Given the description of an element on the screen output the (x, y) to click on. 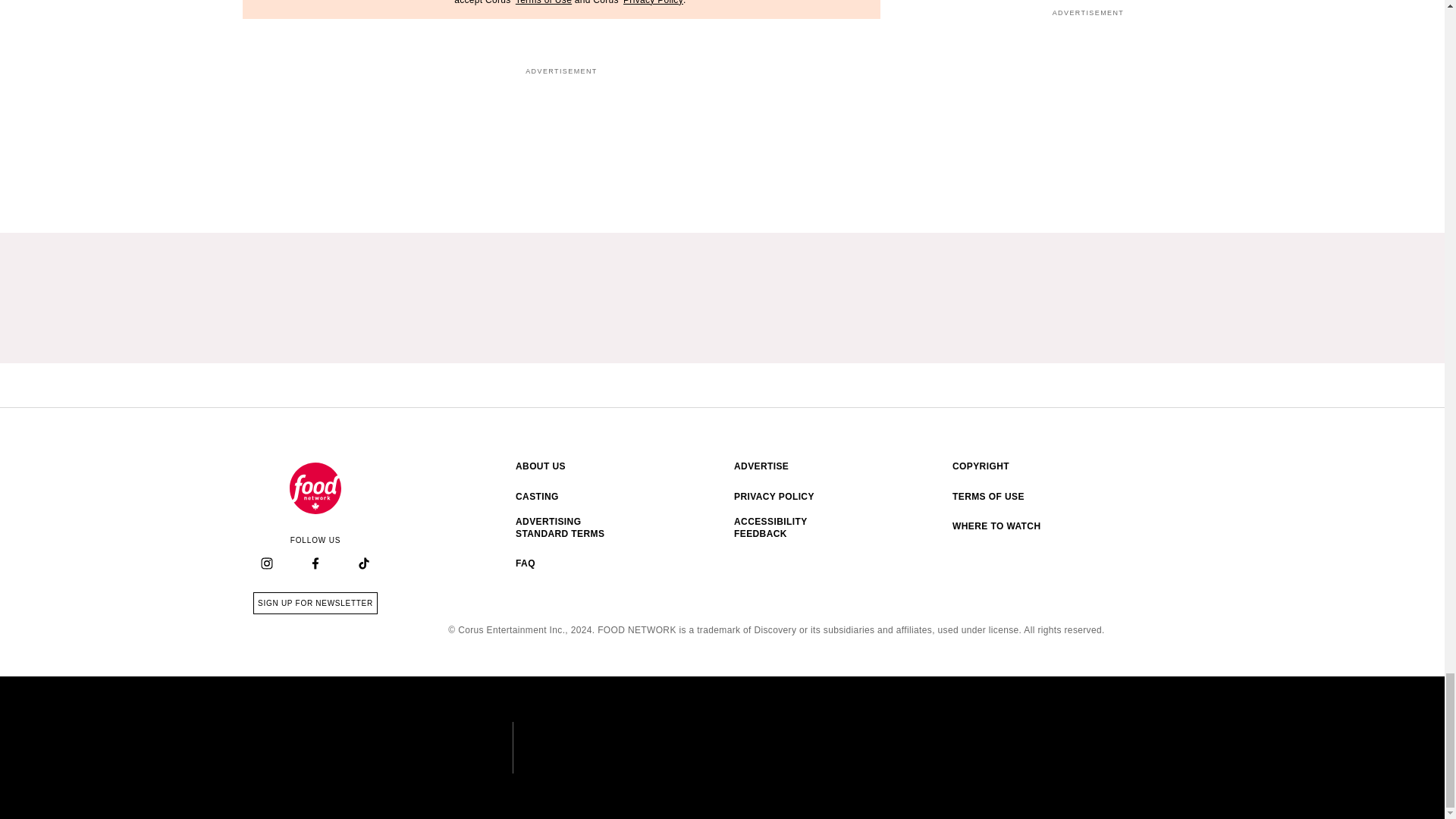
Terms of Use (543, 2)
Follow Food Network Canada on Instagram (267, 563)
Food Network Canada home (314, 488)
Follow Food Network Canada on Facebook (315, 563)
Instagram (266, 563)
Privacy Policy (652, 2)
